Given the description of an element on the screen output the (x, y) to click on. 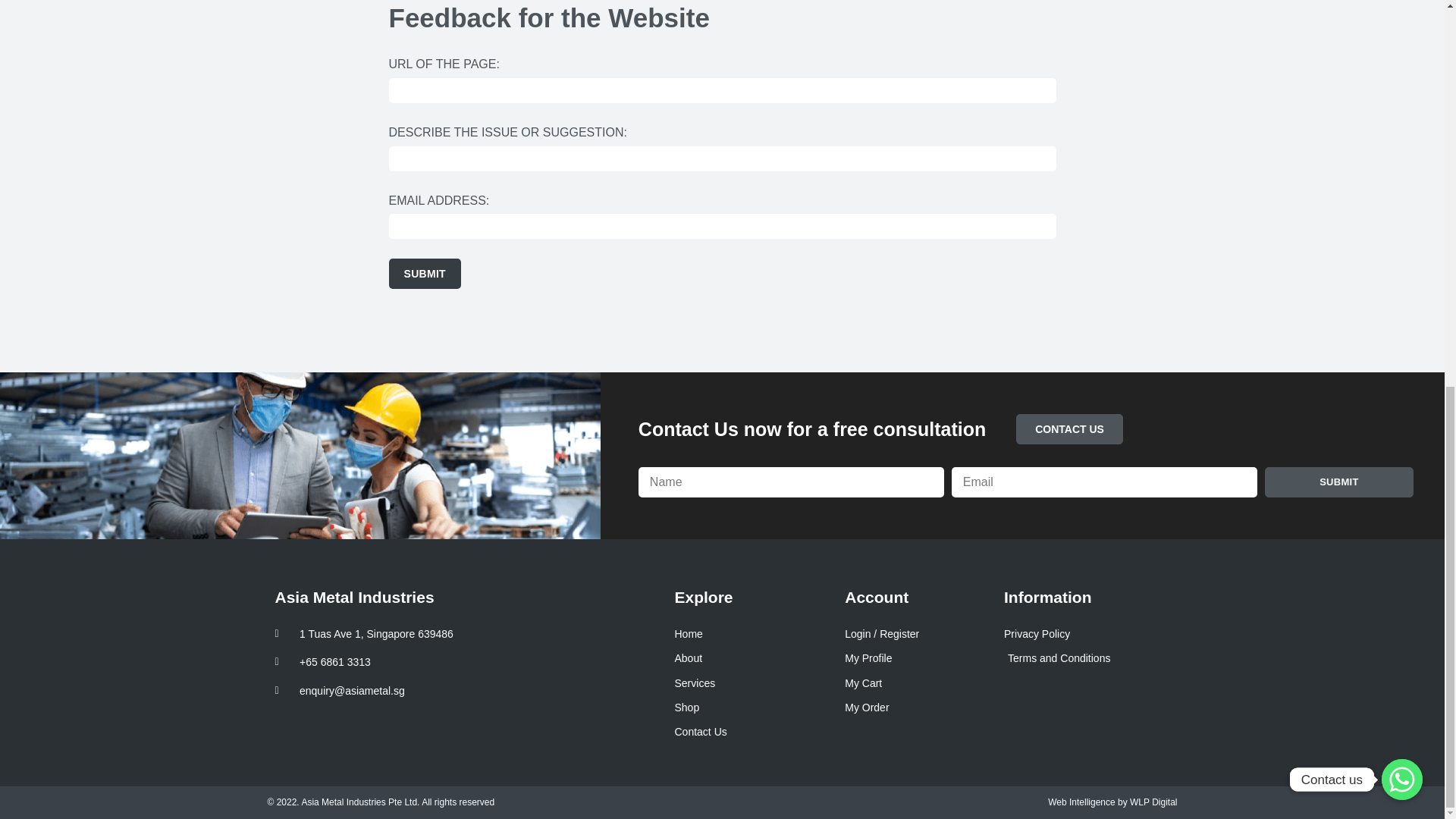
CONTACT US (1069, 429)
SUBMIT (424, 273)
SUBMIT (1339, 481)
